Given the description of an element on the screen output the (x, y) to click on. 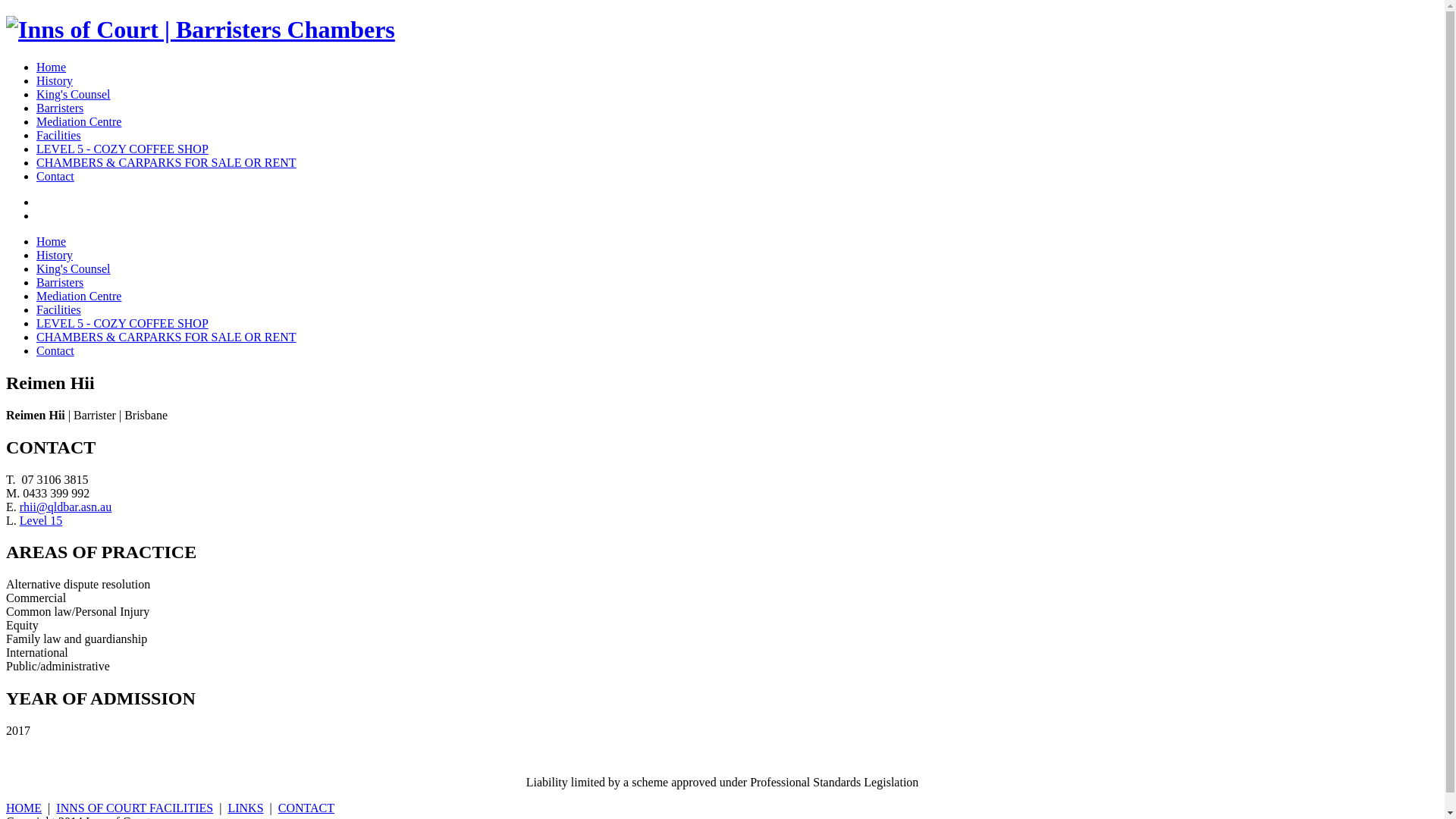
LEVEL 5 - COZY COFFEE SHOP Element type: text (122, 148)
CHAMBERS & CARPARKS FOR SALE OR RENT Element type: text (166, 162)
Contact Element type: text (55, 350)
HOME Element type: text (23, 807)
King's Counsel Element type: text (73, 268)
CONTACT Element type: text (306, 807)
Level 15 Element type: text (40, 520)
Home Element type: text (50, 66)
Barristers Element type: text (59, 107)
Home Element type: text (50, 241)
INNS OF COURT FACILITIES Element type: text (134, 807)
History Element type: text (54, 80)
CHAMBERS & CARPARKS FOR SALE OR RENT Element type: text (166, 336)
LINKS Element type: text (245, 807)
Barristers Element type: text (59, 282)
Facilities Element type: text (58, 134)
Mediation Centre Element type: text (78, 295)
Facilities Element type: text (58, 309)
King's Counsel Element type: text (73, 93)
LEVEL 5 - COZY COFFEE SHOP Element type: text (122, 322)
Mediation Centre Element type: text (78, 121)
rhii@qldbar.asn.au Element type: text (65, 506)
History Element type: text (54, 254)
Contact Element type: text (55, 175)
